Given the description of an element on the screen output the (x, y) to click on. 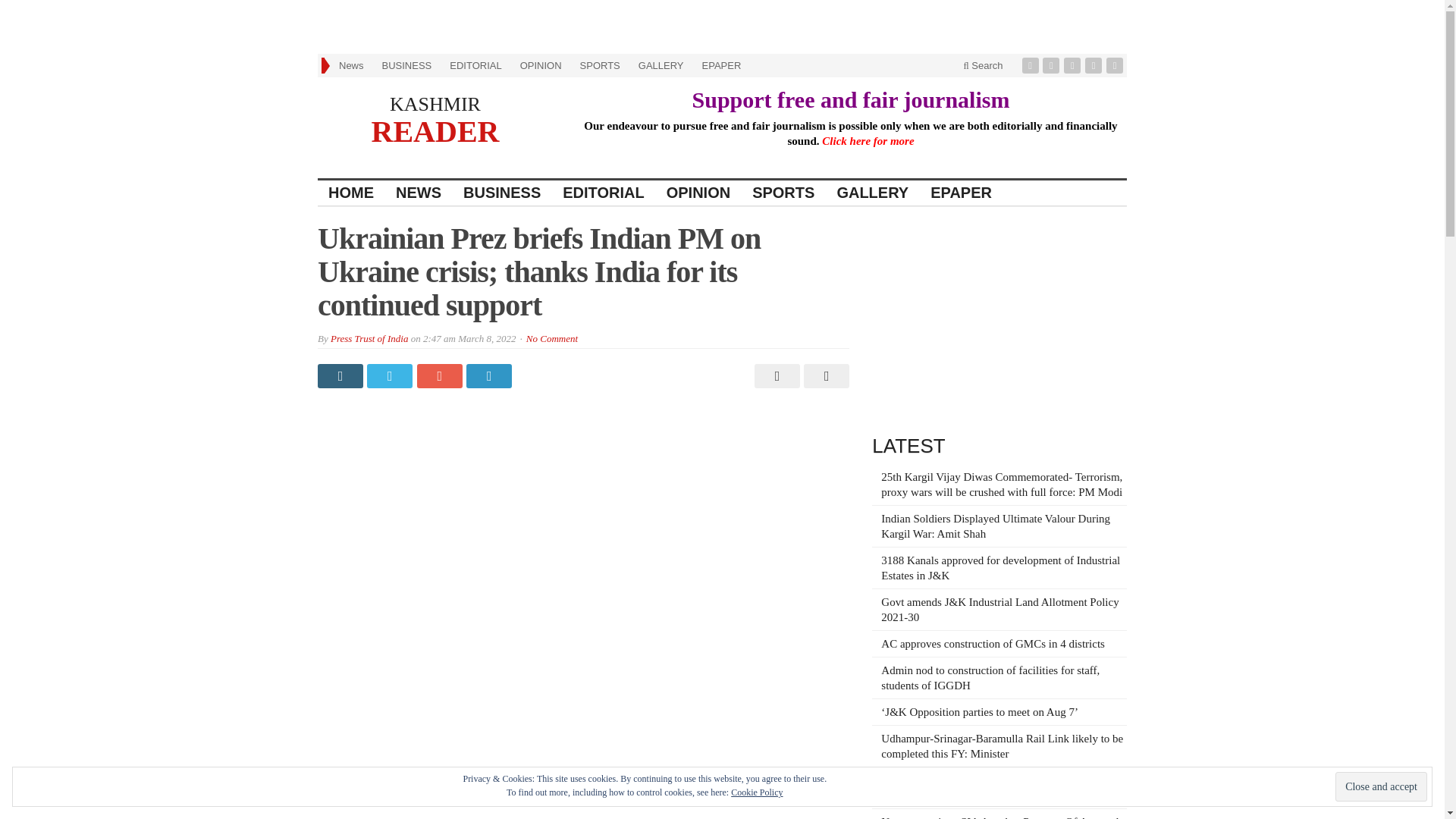
EPAPER (961, 192)
Search (982, 65)
Daily Newspaper (435, 104)
News (351, 65)
READER (435, 130)
KASHMIR (435, 104)
Share on Facebook (341, 375)
EDITORIAL (476, 65)
SPORTS (599, 65)
HOME (351, 192)
BUSINESS (406, 65)
Daily Newspaper (435, 130)
EDITORIAL (603, 192)
Close and accept (1380, 786)
BUSINESS (501, 192)
